Given the description of an element on the screen output the (x, y) to click on. 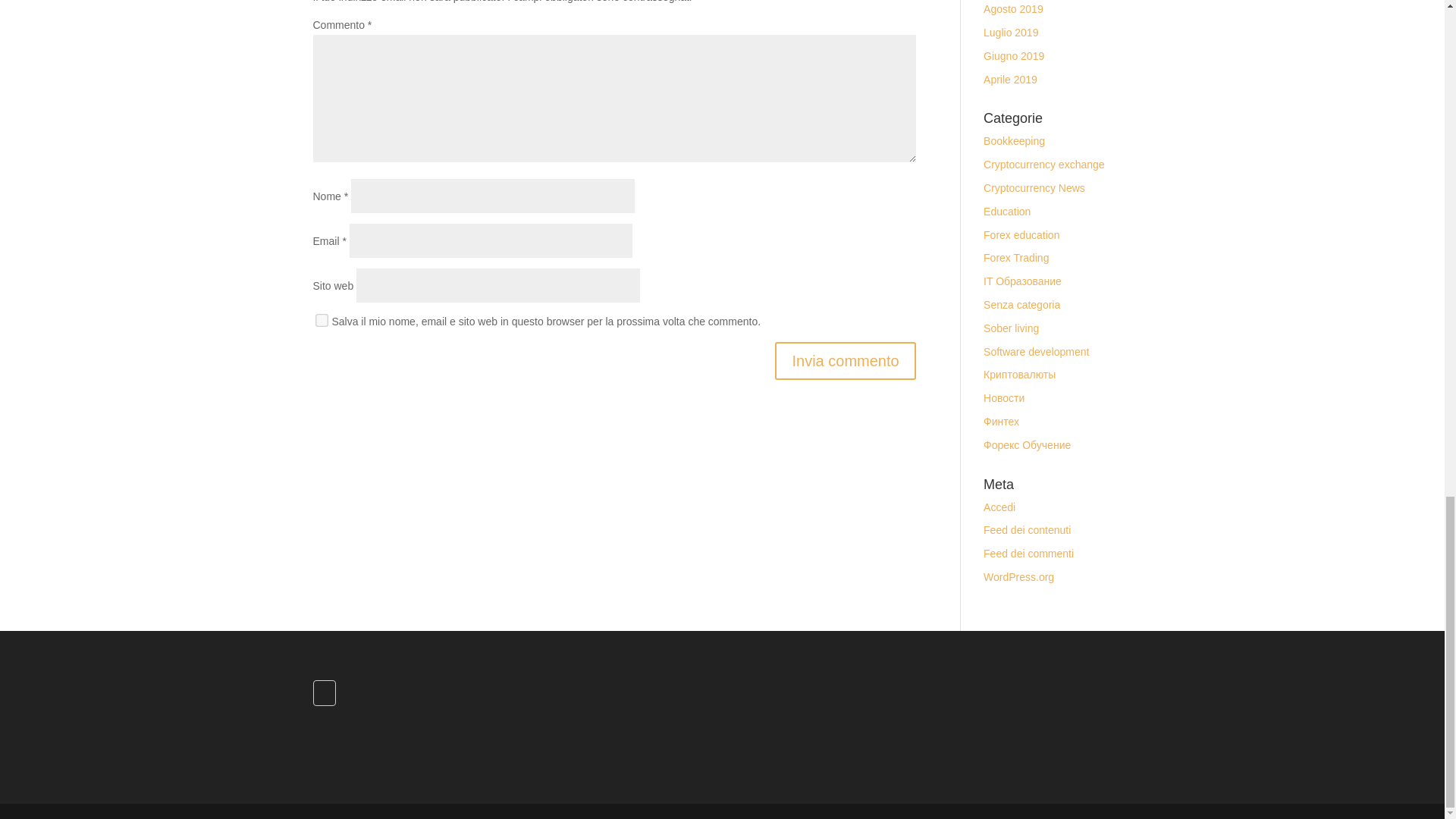
Invia commento (844, 361)
Invia commento (844, 361)
yes (319, 318)
